Given the description of an element on the screen output the (x, y) to click on. 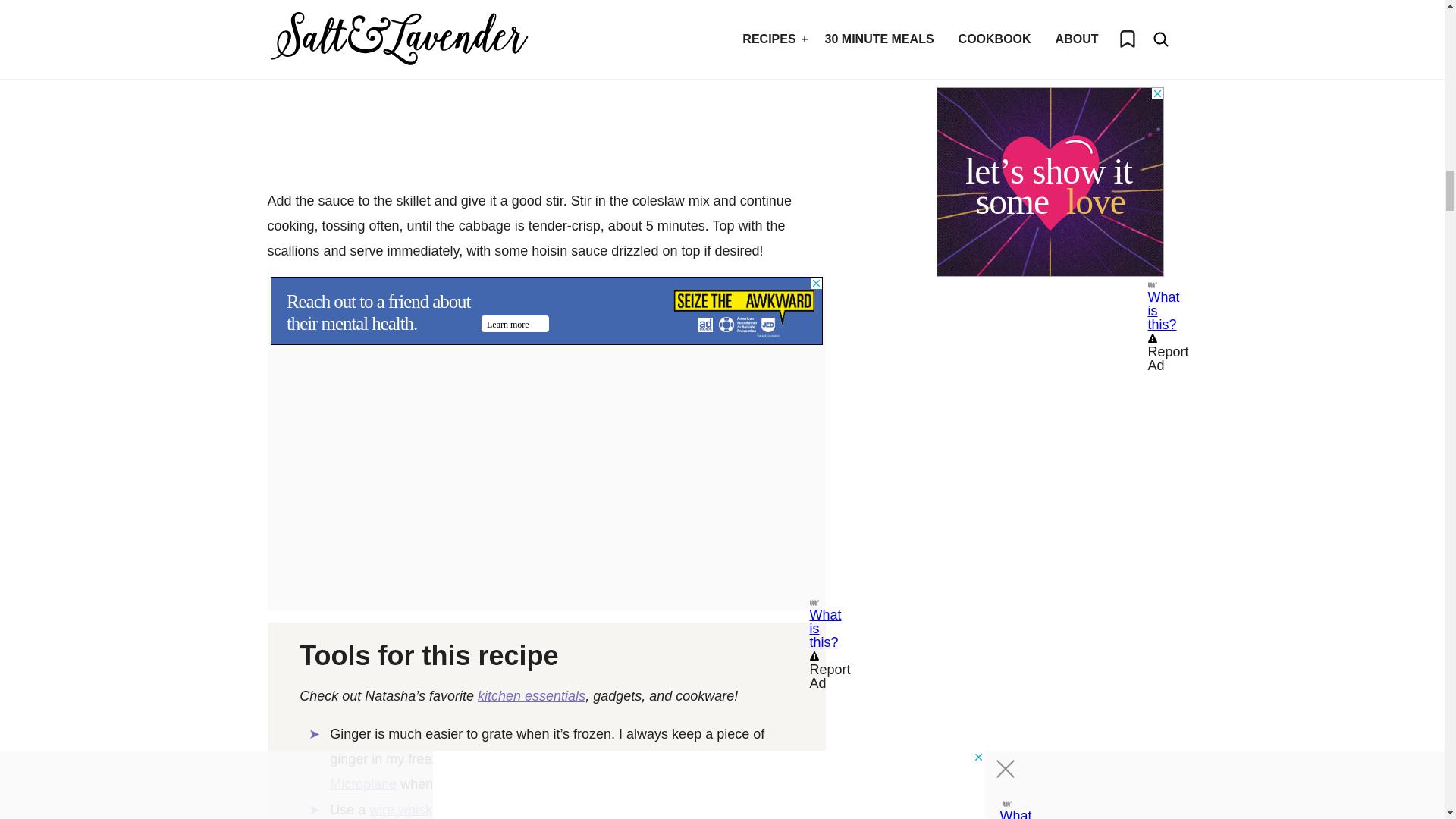
kitchen essentials (531, 695)
3rd party ad content (545, 310)
Microplane (363, 783)
wire whisk (400, 809)
